Given the description of an element on the screen output the (x, y) to click on. 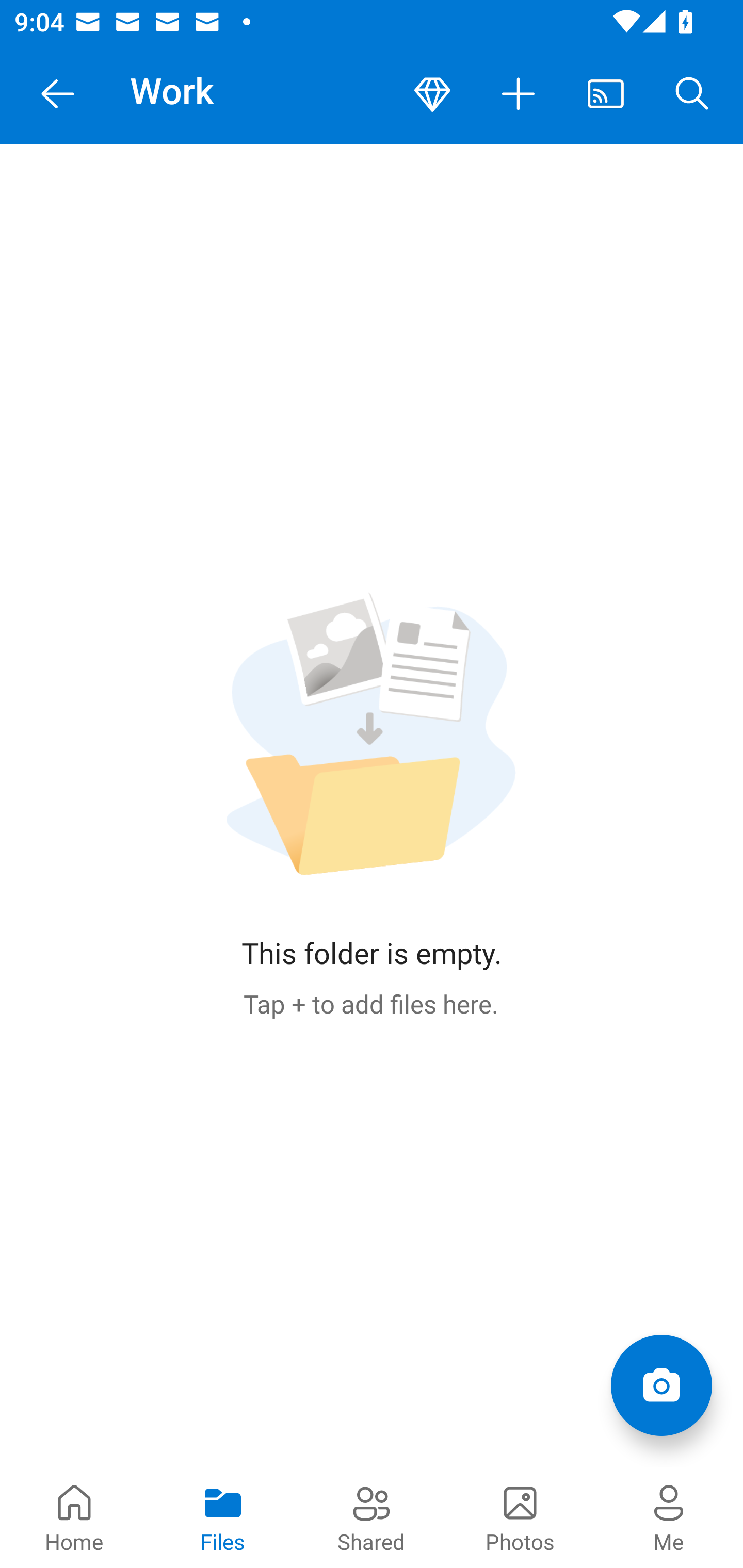
Navigate Up (57, 93)
Cast. Disconnected (605, 93)
Premium button (432, 93)
More actions button (518, 93)
Search button (692, 93)
Add items Scan (660, 1385)
Home pivot Home (74, 1517)
Shared pivot Shared (371, 1517)
Photos pivot Photos (519, 1517)
Me pivot Me (668, 1517)
